Given the description of an element on the screen output the (x, y) to click on. 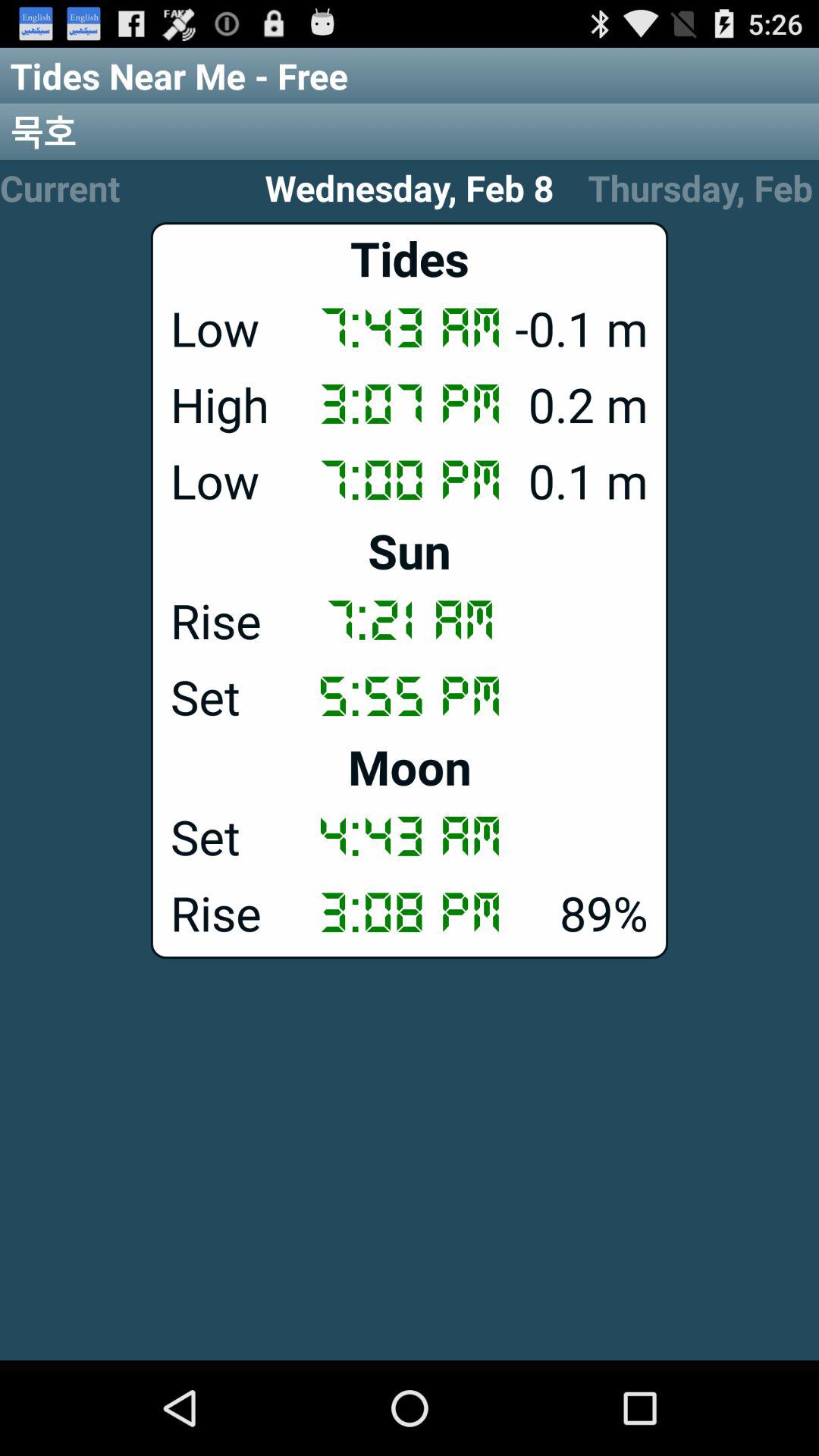
press the high (409, 404)
